Given the description of an element on the screen output the (x, y) to click on. 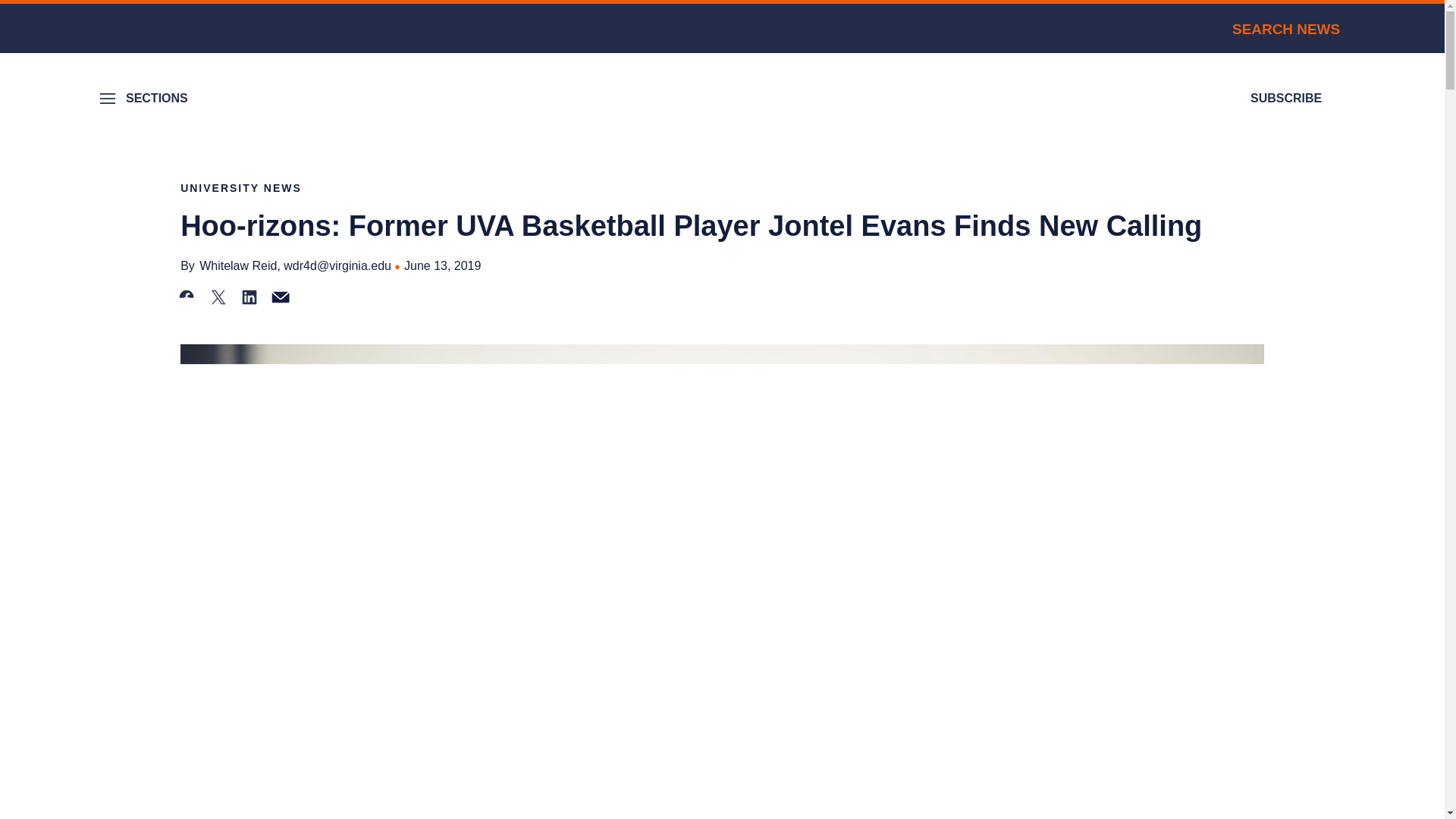
SUBSCRIBE (1286, 98)
Whitelaw Reid, (240, 265)
Home (721, 103)
University of Virginia Logo (181, 28)
SECTIONS (145, 98)
SEARCH NEWS (1270, 28)
